Given the description of an element on the screen output the (x, y) to click on. 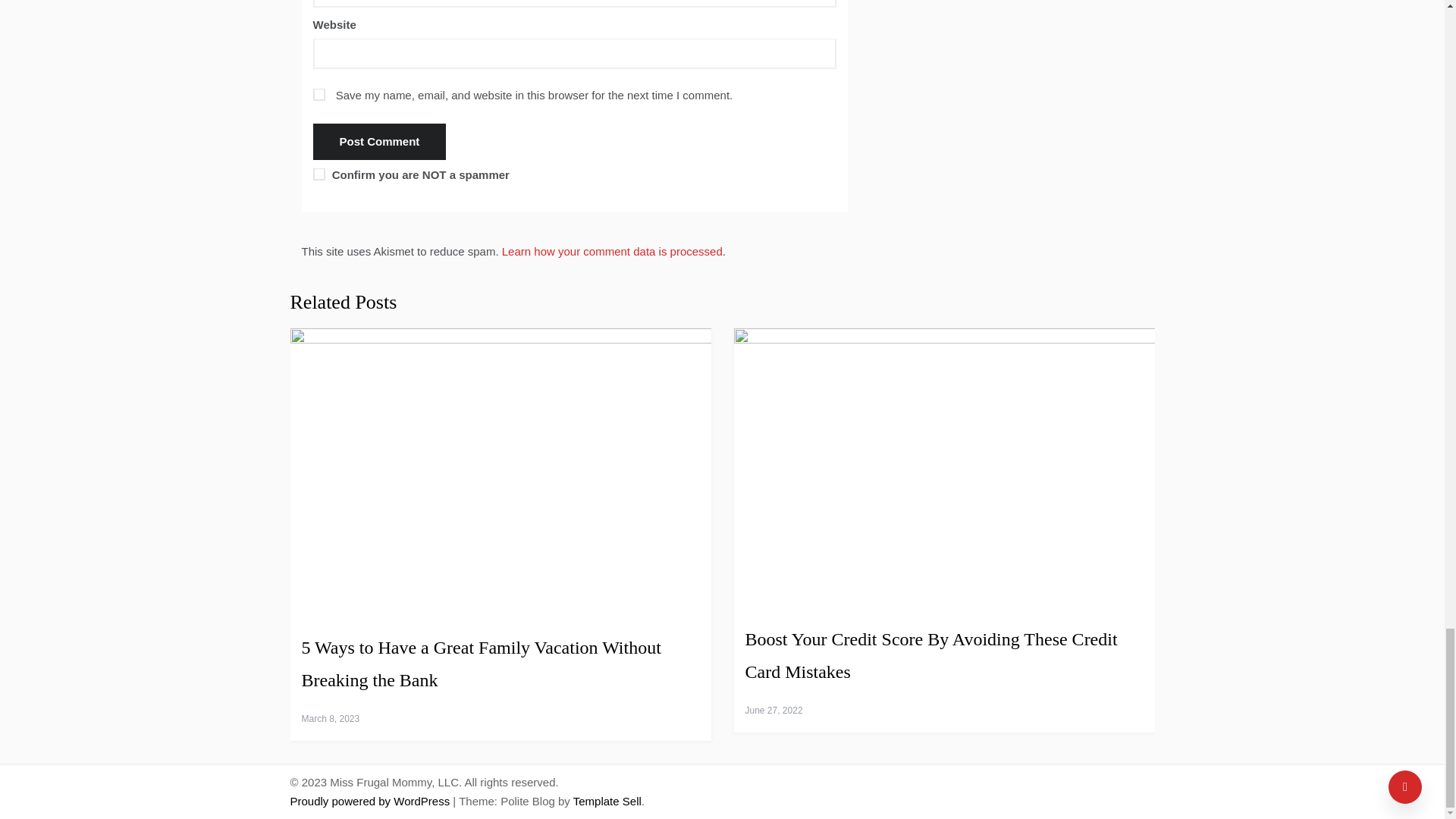
on (318, 174)
yes (318, 94)
Post Comment (379, 141)
